Given the description of an element on the screen output the (x, y) to click on. 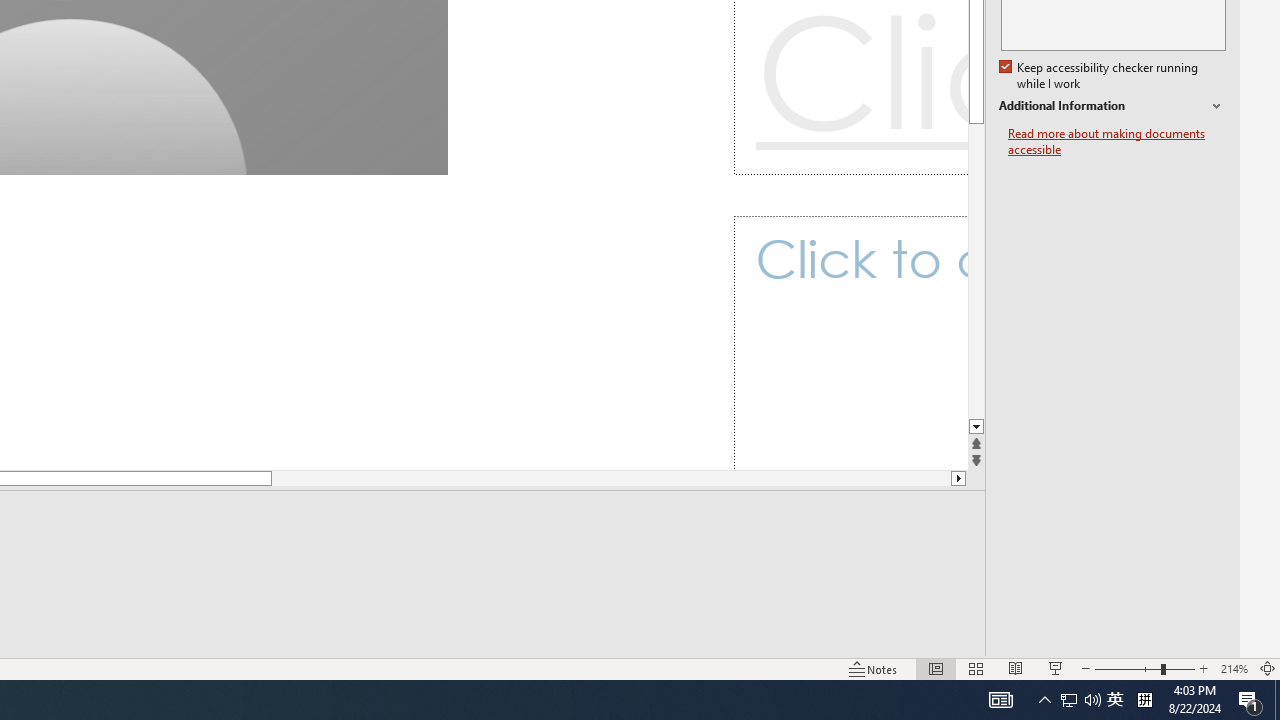
Zoom (1116, 640)
Disable Linked Styles (1094, 556)
Add (1193, 97)
Poe (201, 687)
More Add-ins (1156, 142)
